Given the description of an element on the screen output the (x, y) to click on. 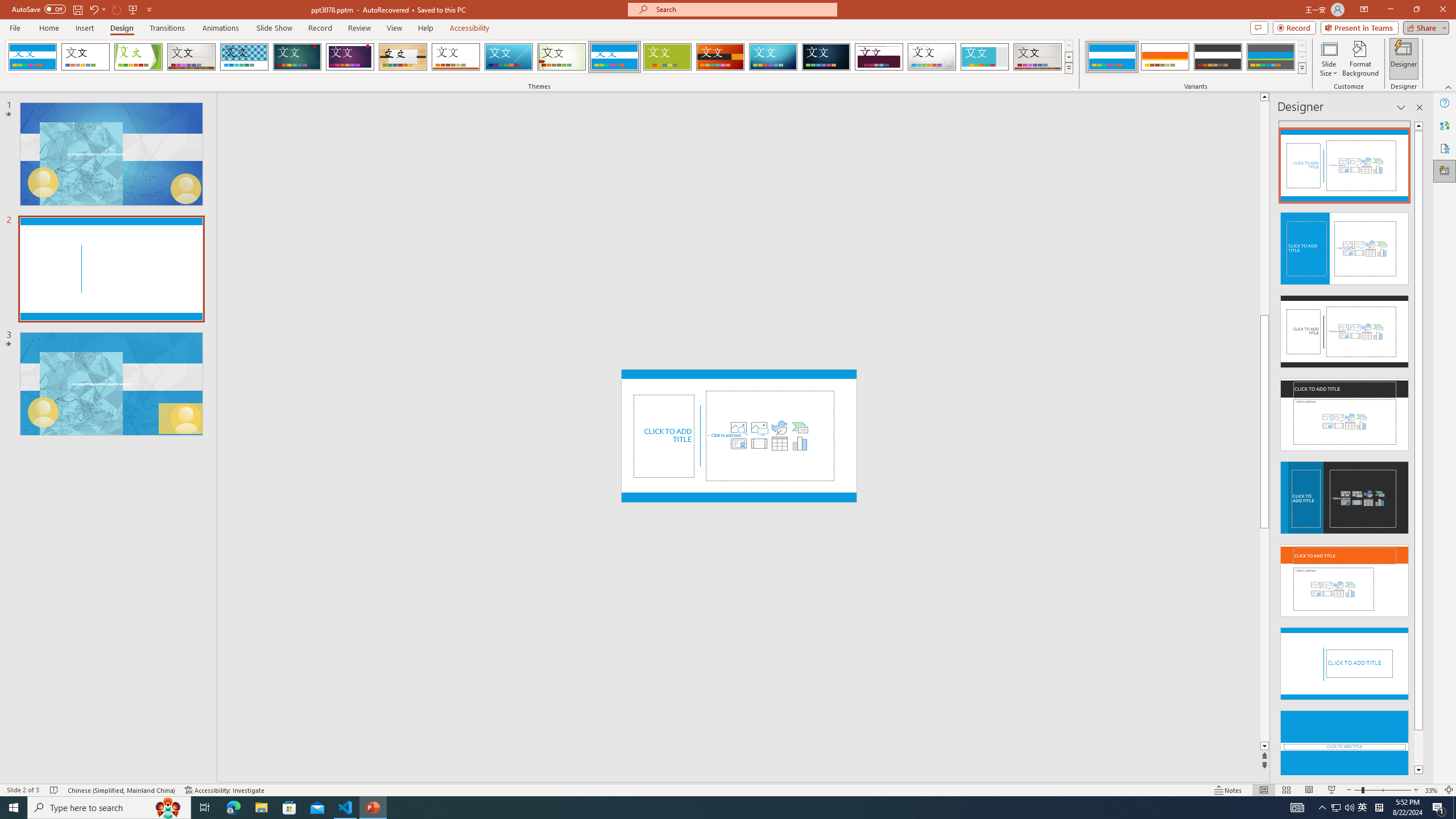
Ion Boardroom (350, 56)
AutomationID: SlideThemesGallery (539, 56)
Banded Variant 4 (1270, 56)
Zoom 33% (1431, 790)
